Given the description of an element on the screen output the (x, y) to click on. 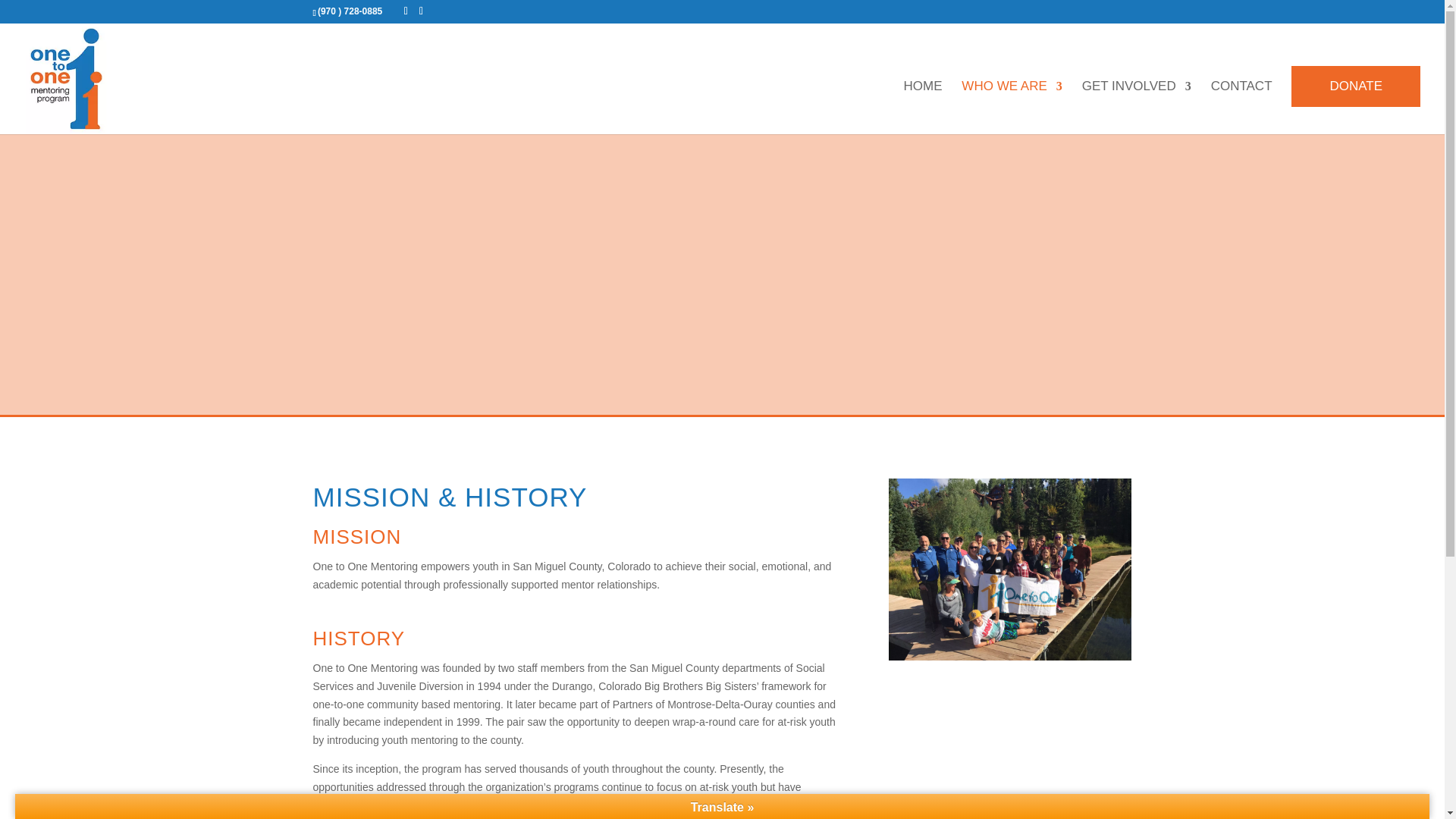
GET INVOLVED (1136, 107)
CONTACT (1241, 107)
DONATE (1356, 86)
WHO WE ARE (1010, 107)
